Given the description of an element on the screen output the (x, y) to click on. 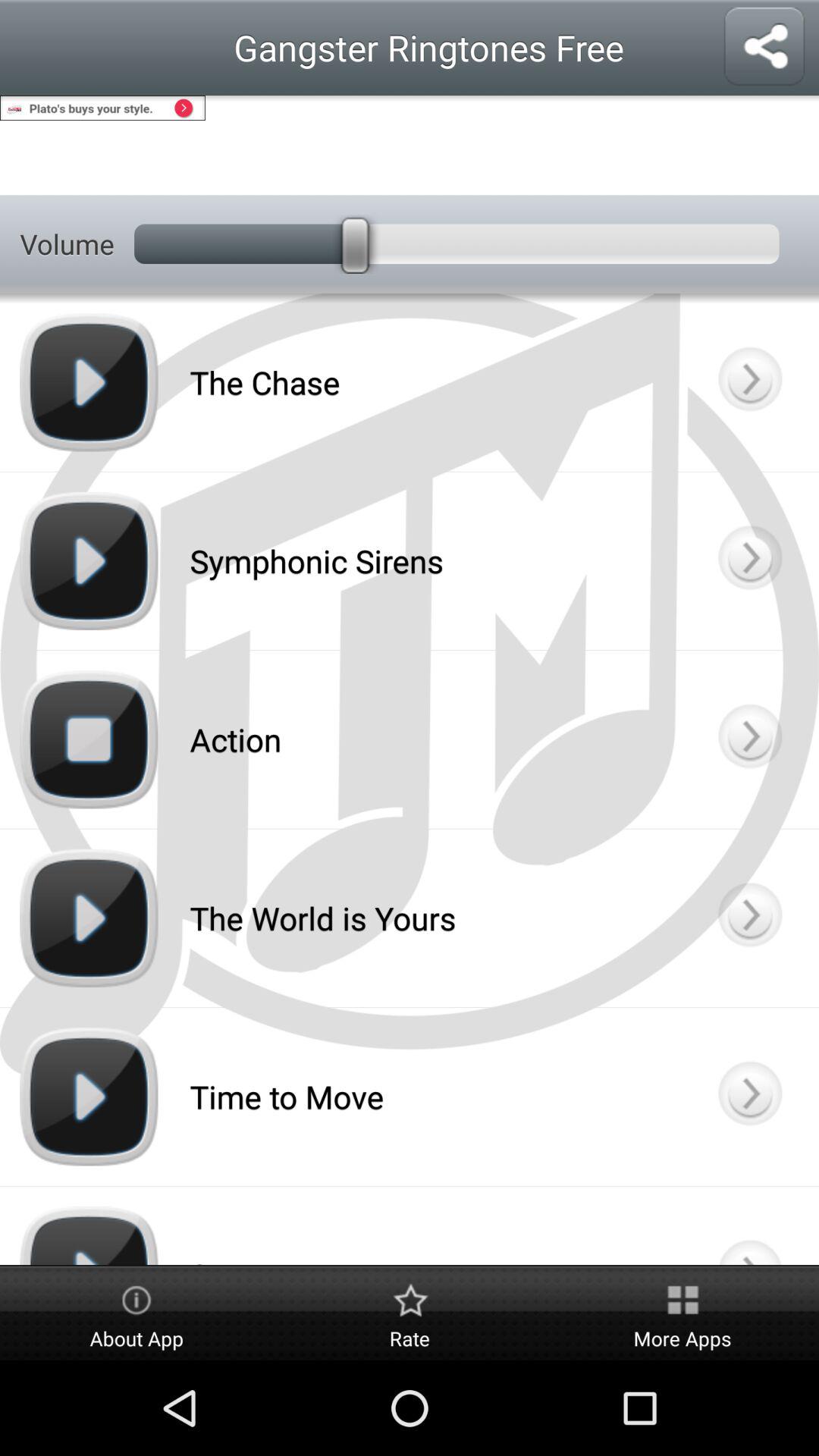
select advertisement (409, 145)
